Given the description of an element on the screen output the (x, y) to click on. 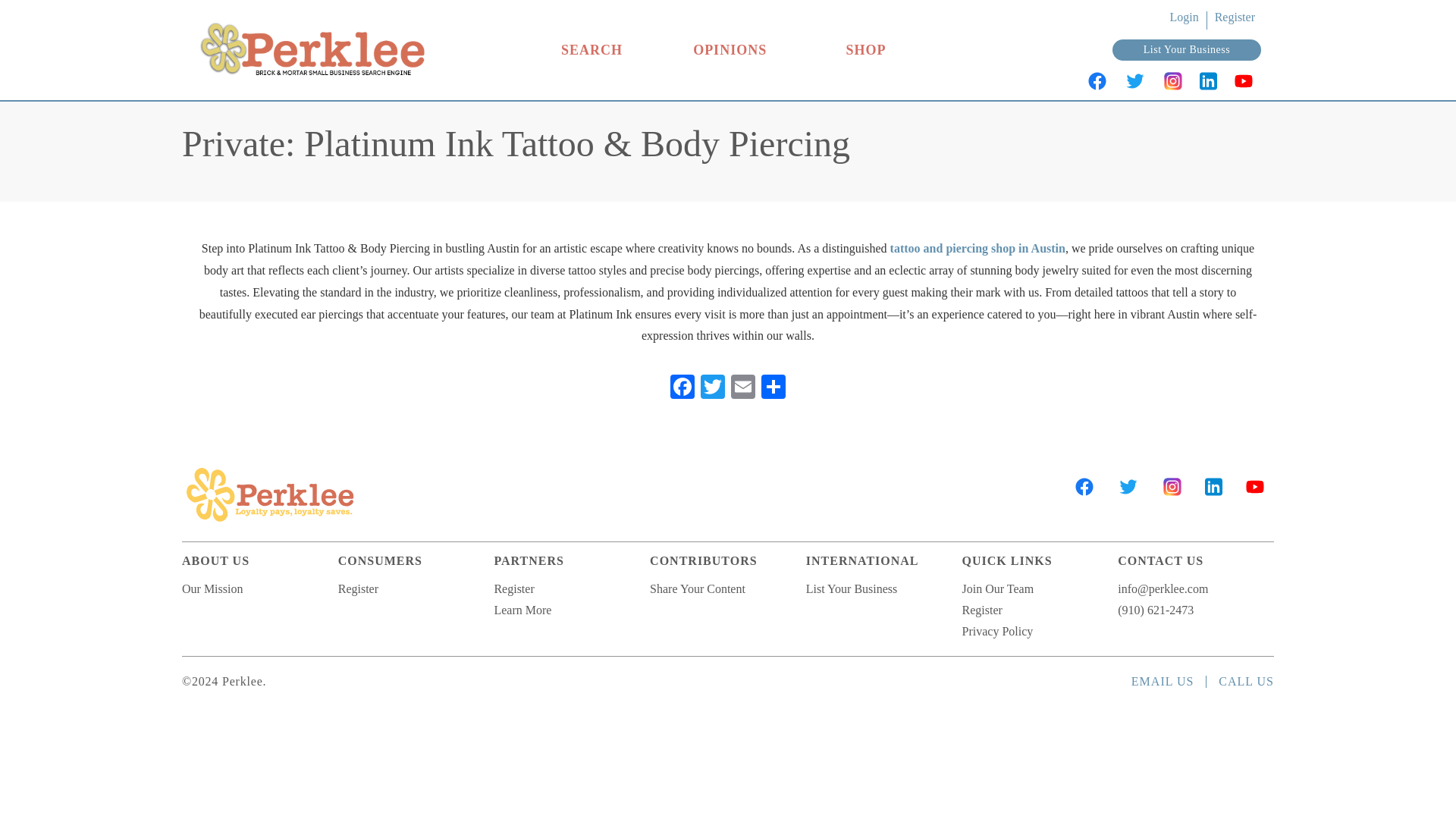
SEARCH (591, 49)
Facebook (681, 388)
Register (357, 588)
OPINIONS (730, 49)
SHOP (865, 49)
Our Mission (212, 588)
Perklee (270, 494)
Register (1234, 16)
tattoo and piercing shop in Austin (977, 247)
Perklee (310, 82)
